Given the description of an element on the screen output the (x, y) to click on. 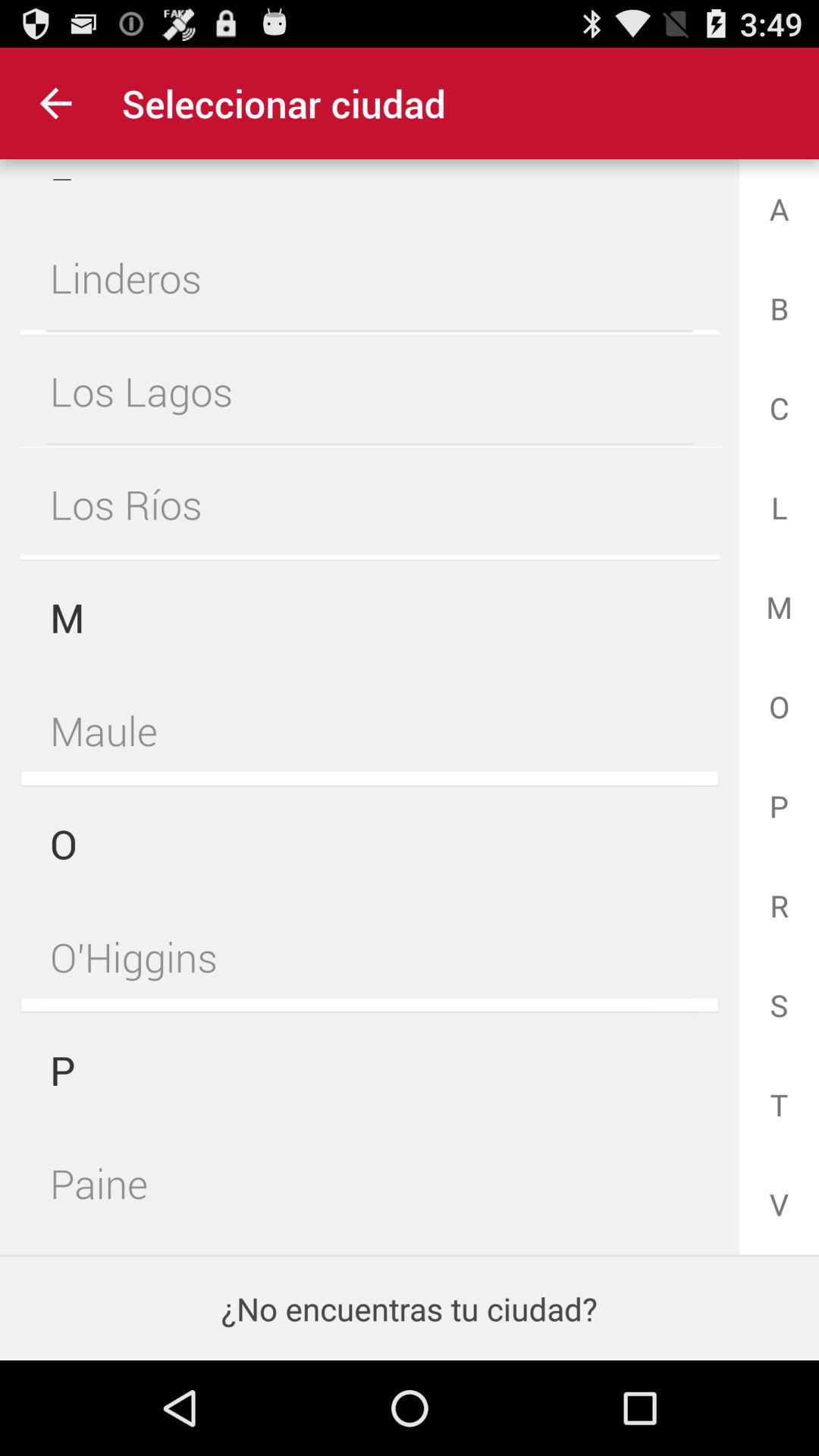
launch the item above the los lagos (369, 277)
